Given the description of an element on the screen output the (x, y) to click on. 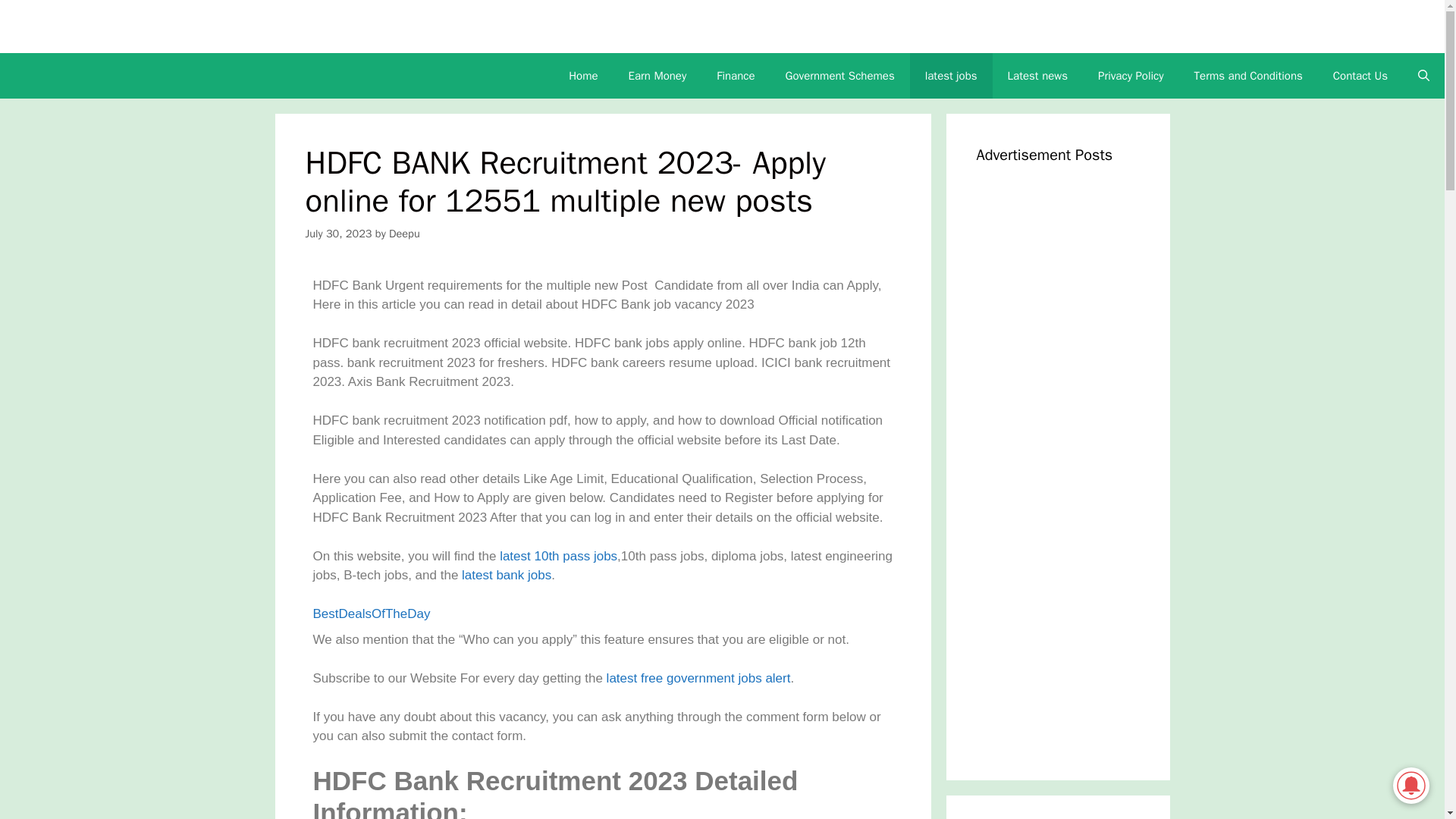
latest bank jobs (506, 575)
latest 10th pass jobs (558, 555)
Deepu (404, 233)
latest free government jobs alert (698, 677)
latest jobs (951, 75)
Finance (735, 75)
View all posts by Deepu (404, 233)
Privacy Policy (1131, 75)
Latest news (1037, 75)
Government Schemes (840, 75)
